Given the description of an element on the screen output the (x, y) to click on. 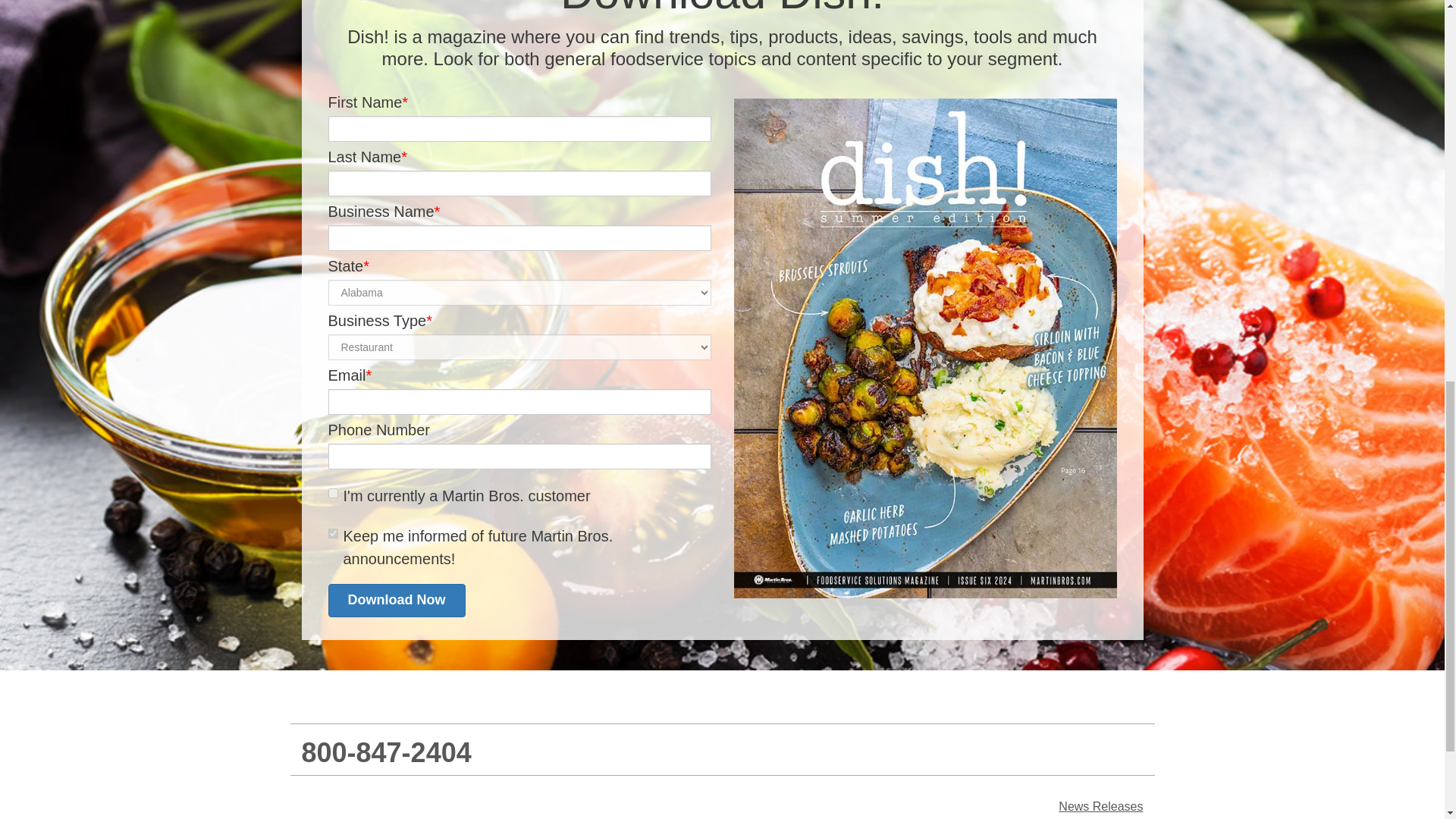
true (332, 533)
Download Now (395, 600)
true (332, 492)
